Given the description of an element on the screen output the (x, y) to click on. 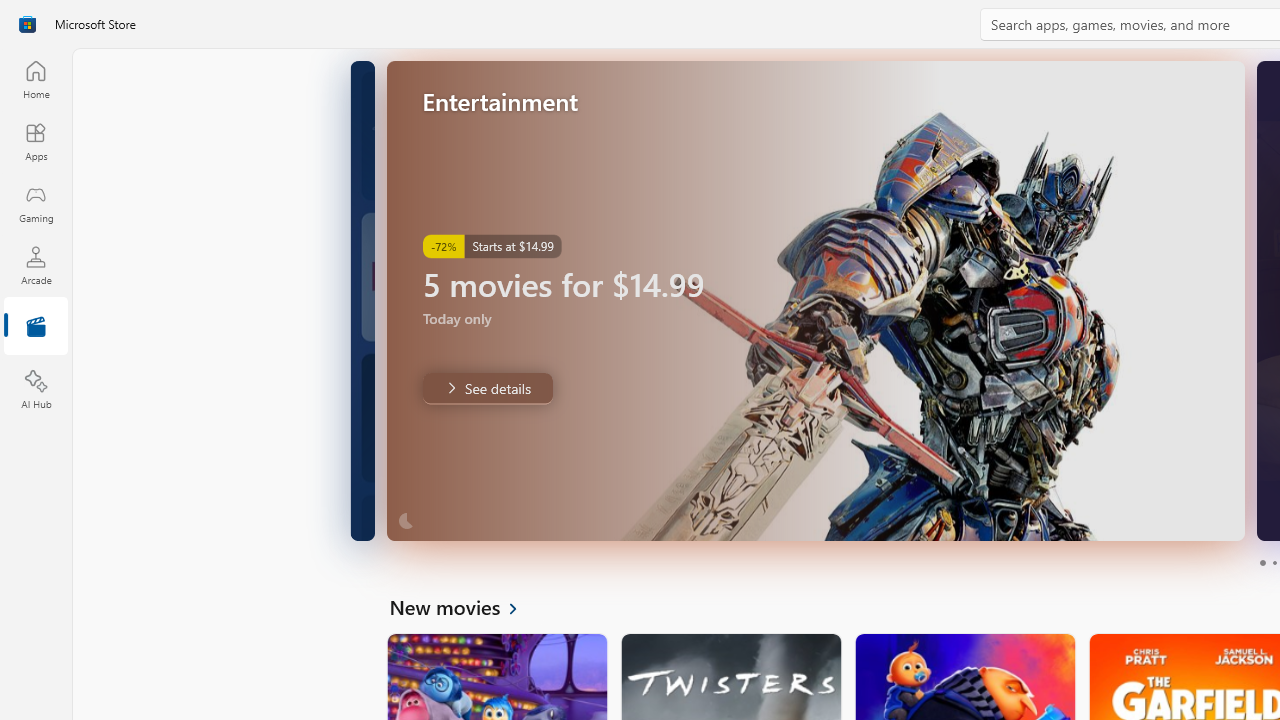
Page 2 (1274, 562)
Arcade (35, 265)
Home (35, 79)
AI Hub (35, 390)
Gaming (35, 203)
AutomationID: Image (815, 300)
Apps (35, 141)
Class: Image (27, 24)
Page 1 (1261, 562)
See all  New movies (464, 606)
Entertainment (35, 327)
